Given the description of an element on the screen output the (x, y) to click on. 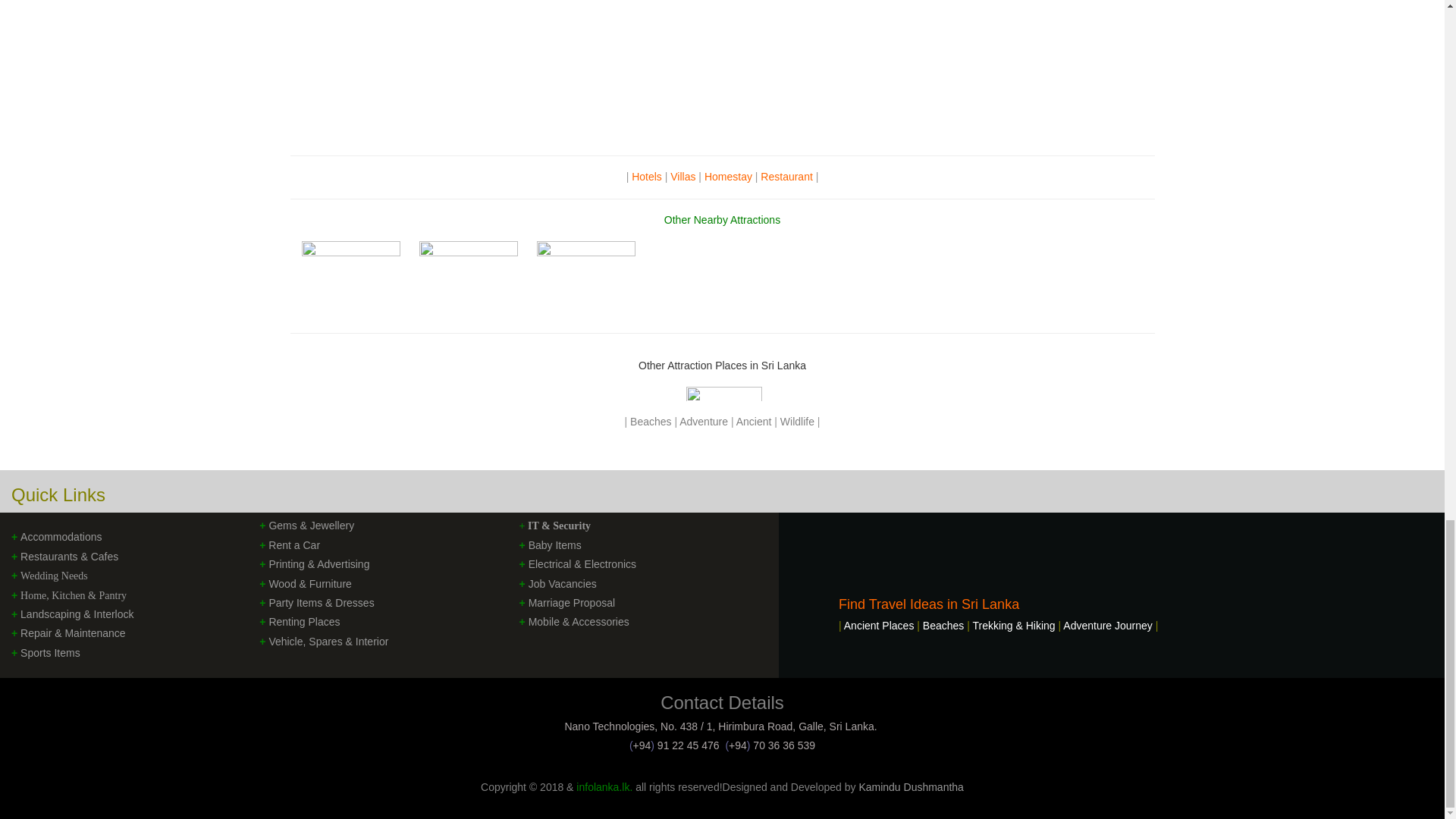
Beaches (650, 421)
Adventure (704, 421)
Wildlife (798, 421)
Wedding Needs (53, 575)
Ancient (755, 421)
Hotels  (648, 176)
Other Attraction Places in Sri Lanka (722, 365)
Accommodations (60, 536)
